Given the description of an element on the screen output the (x, y) to click on. 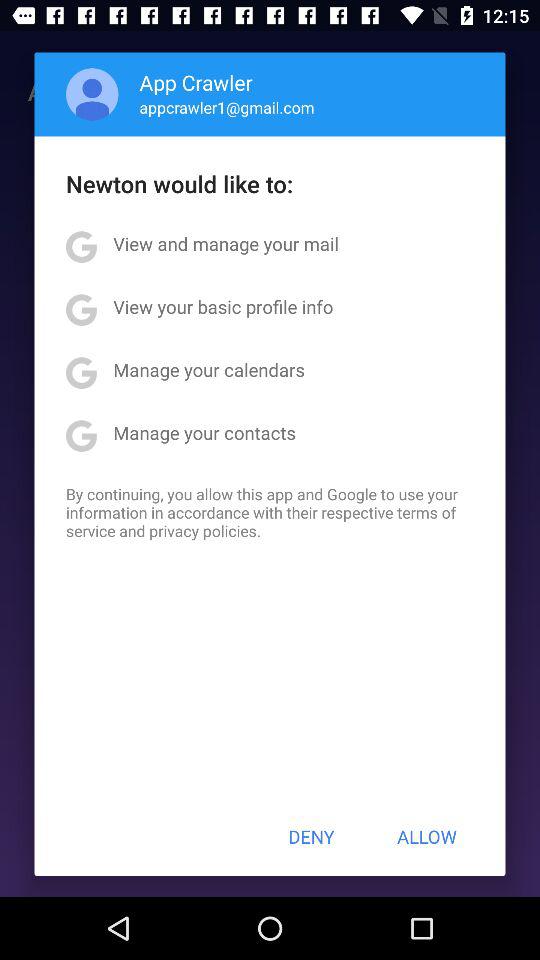
turn on item below the app crawler (226, 107)
